Given the description of an element on the screen output the (x, y) to click on. 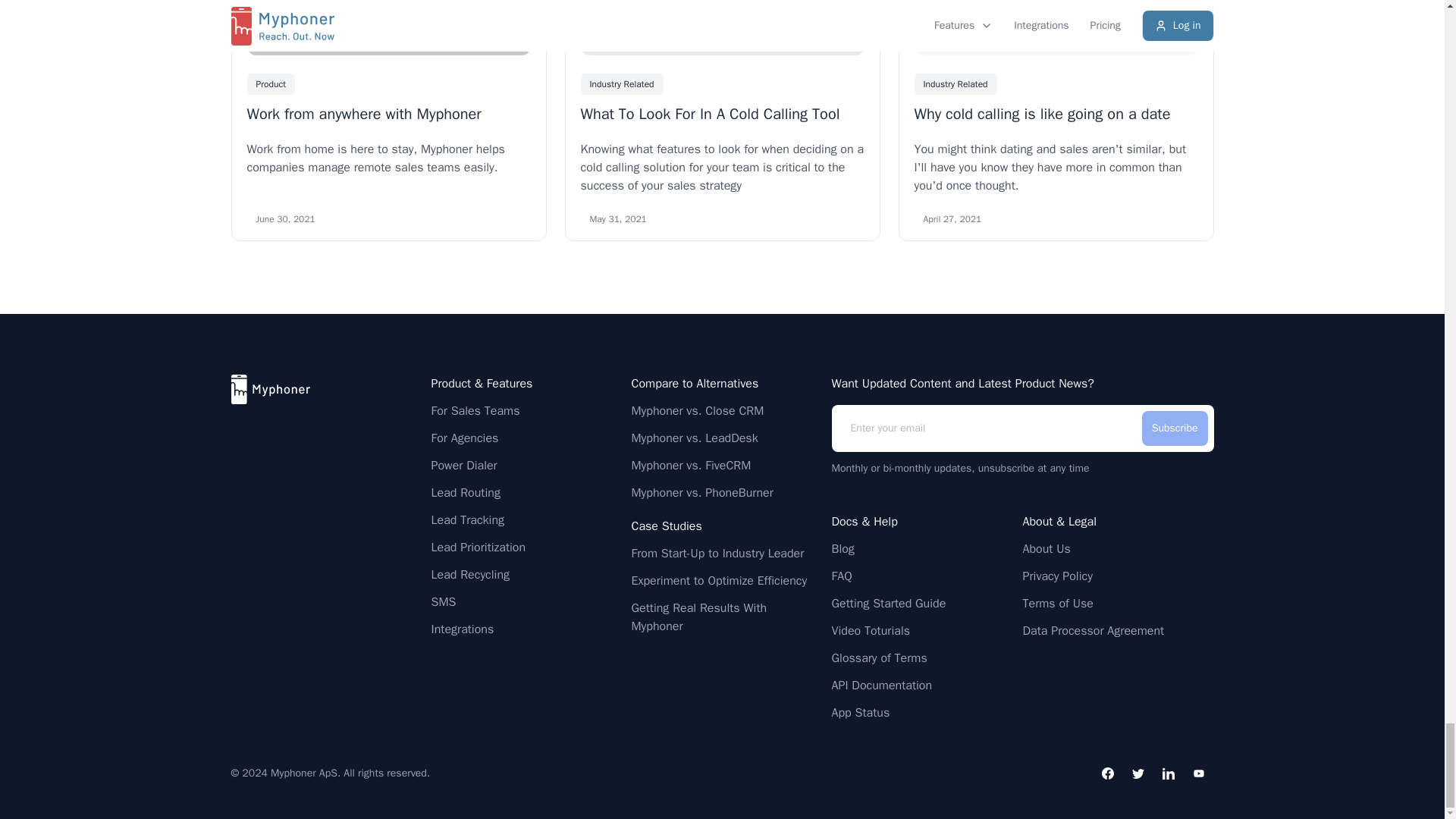
Lead Prioritization (477, 547)
Power Dialer (463, 465)
Myphoner vs. Close CRM (696, 411)
Lead Tracking (466, 520)
Experiment to Optimize Efficiency (718, 580)
From Start-Up to Industry Leader (716, 553)
Myphoner on LinkedIn (1167, 773)
SMS (442, 601)
